Given the description of an element on the screen output the (x, y) to click on. 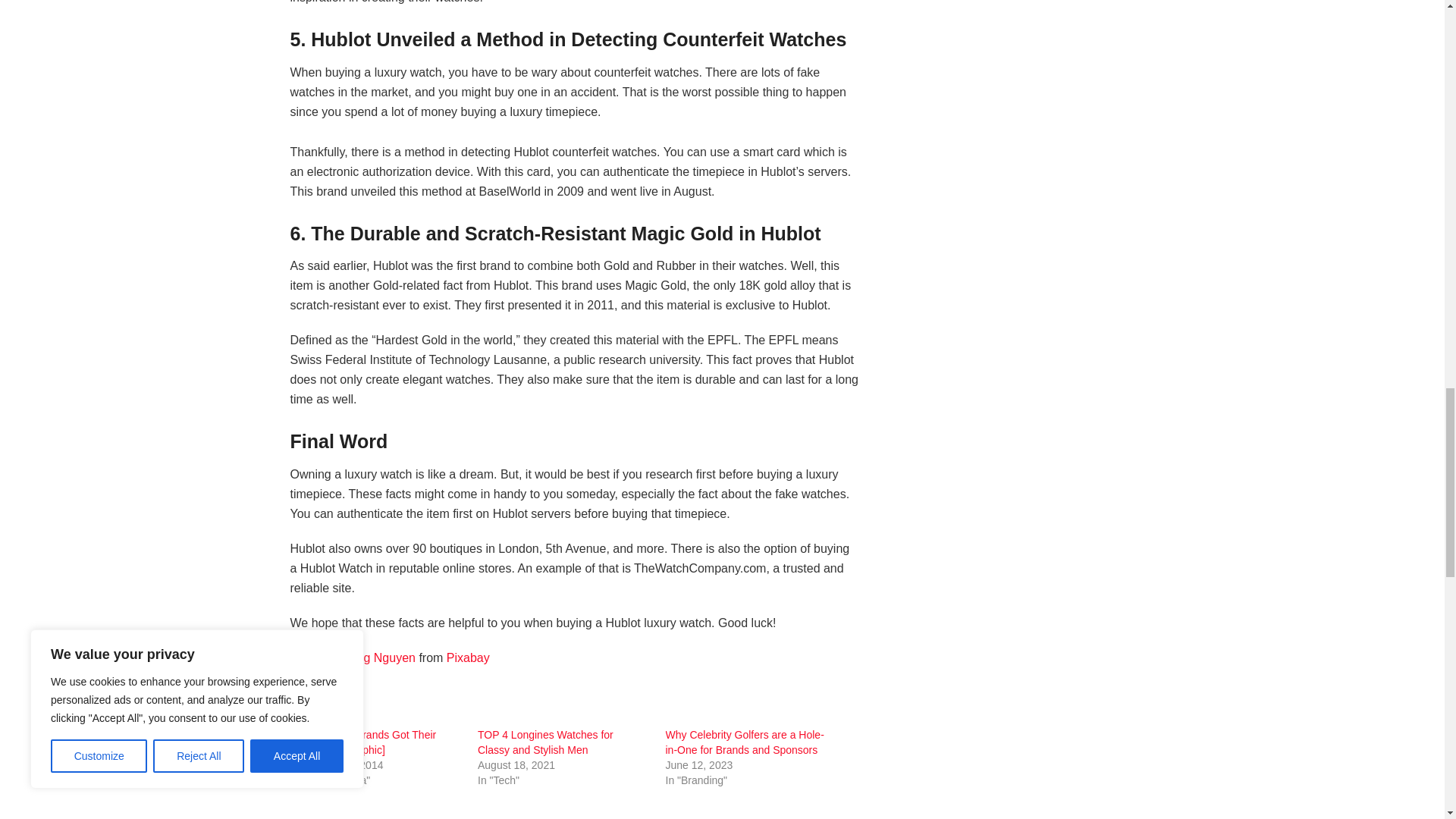
TOP 4 Longines Watches for Classy and Stylish Men (544, 741)
